Given the description of an element on the screen output the (x, y) to click on. 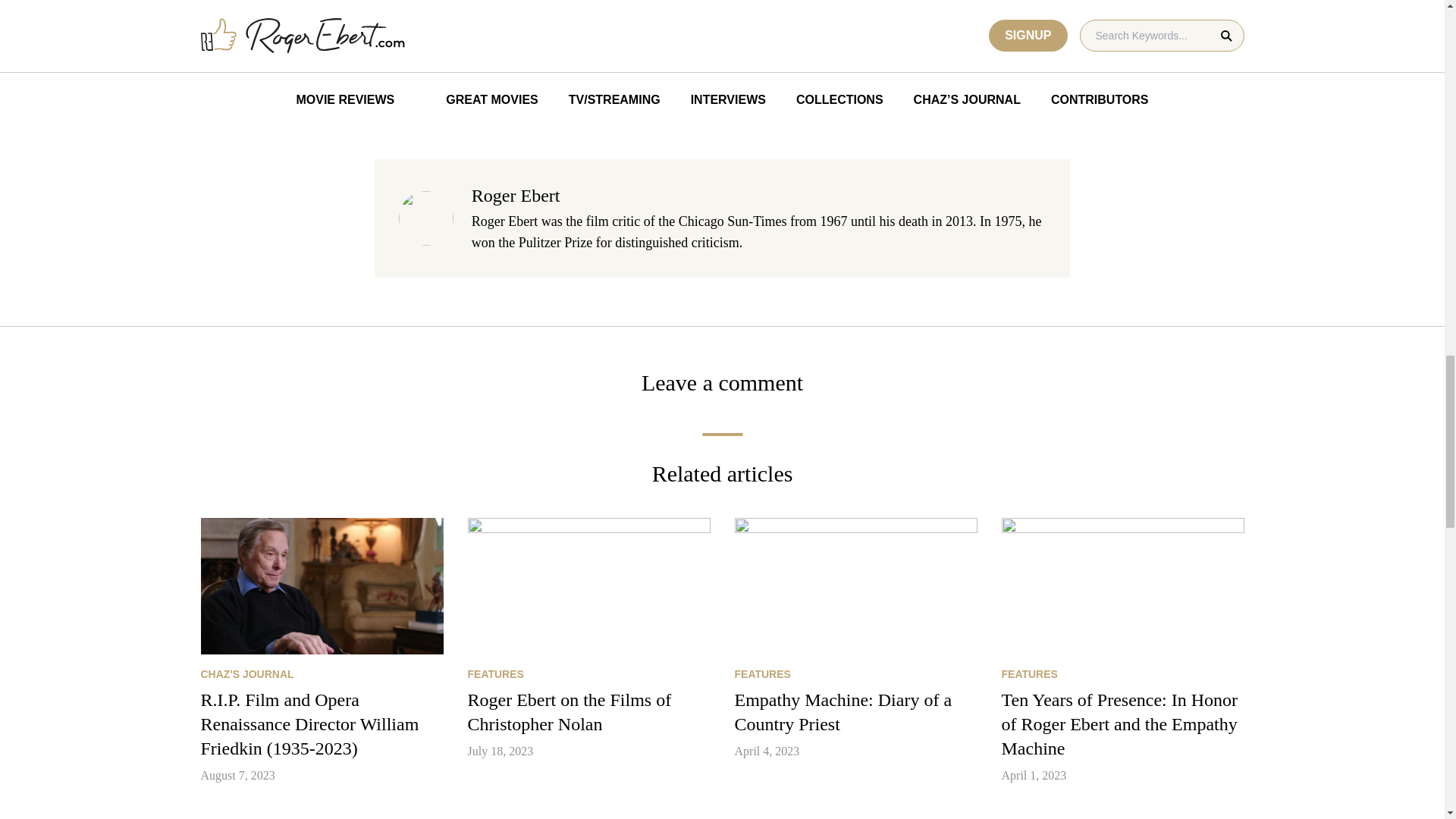
Roger Ebert (515, 195)
